Given the description of an element on the screen output the (x, y) to click on. 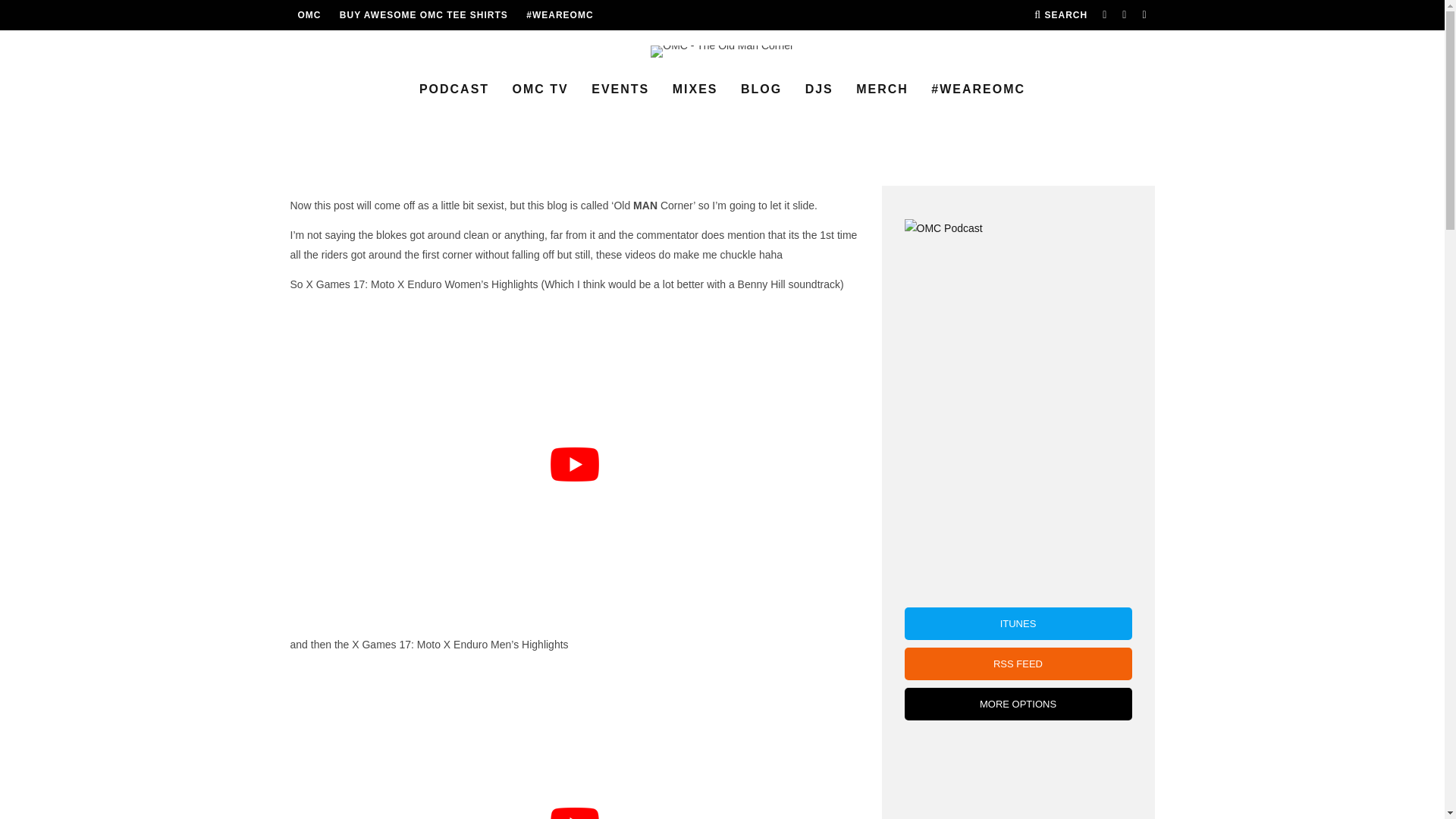
PODCAST (453, 89)
SEARCH (1060, 15)
Search (1060, 15)
OMC TV (540, 89)
BUY AWESOME OMC TEE SHIRTS (423, 15)
Embed Player (1017, 775)
EVENTS (620, 89)
